Given the description of an element on the screen output the (x, y) to click on. 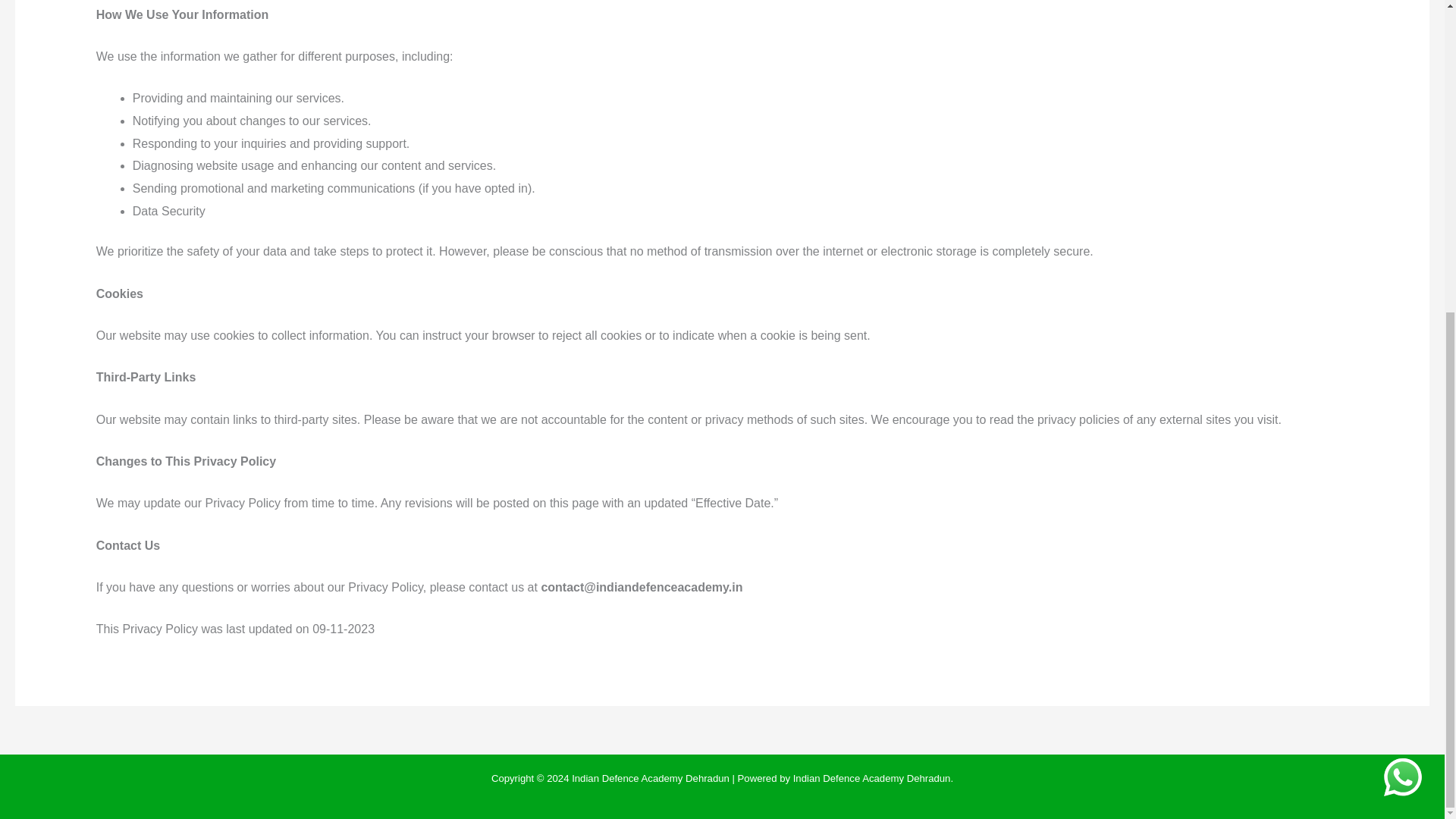
WhatsApp us (1403, 279)
